Given the description of an element on the screen output the (x, y) to click on. 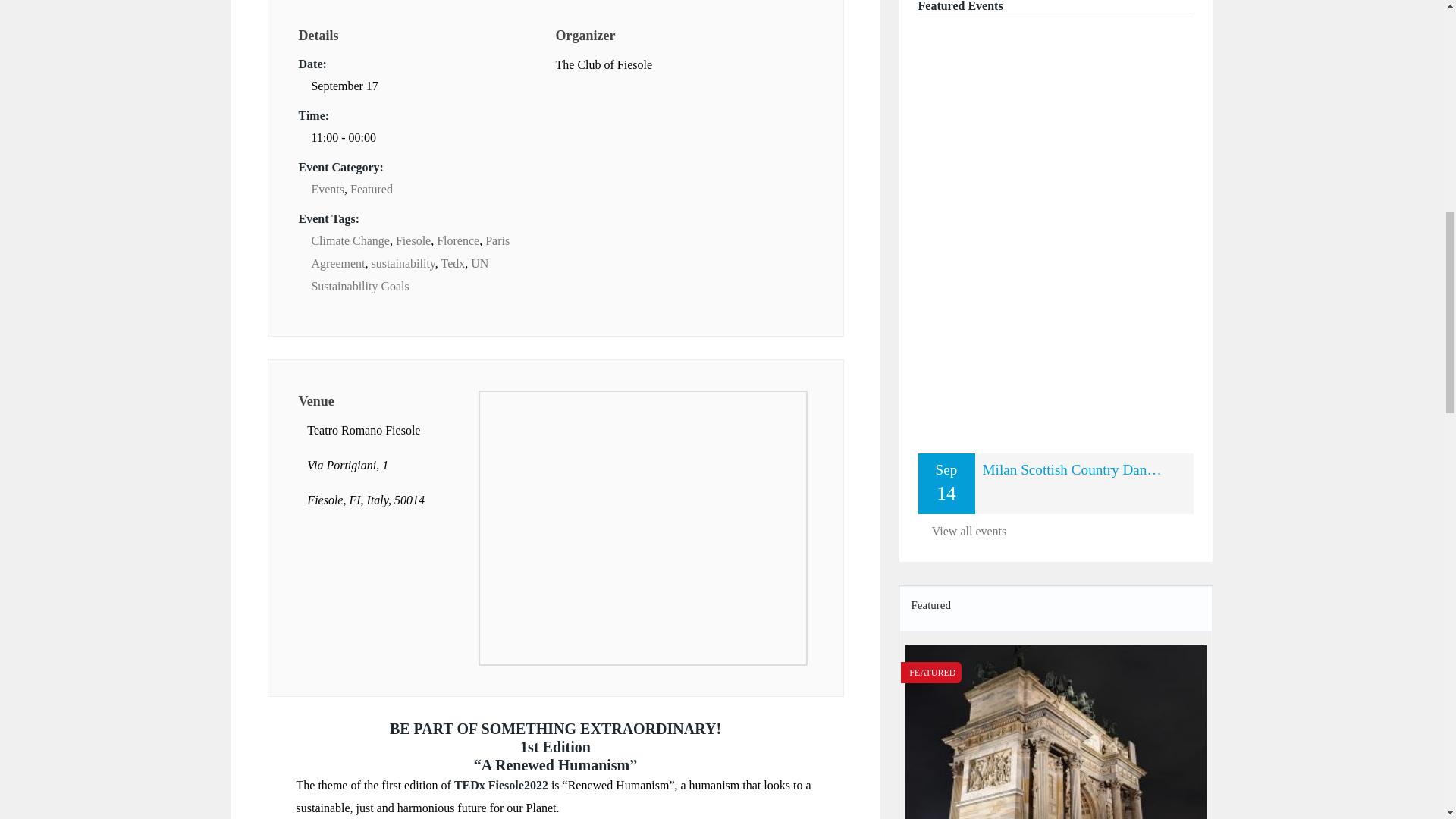
Paris Agreement (410, 252)
Events (327, 188)
Featured (371, 188)
Climate Change (350, 240)
Florence (457, 240)
UN Sustainability Goals (399, 274)
Fiesole (413, 240)
sustainability (403, 263)
Tedx (453, 263)
